Given the description of an element on the screen output the (x, y) to click on. 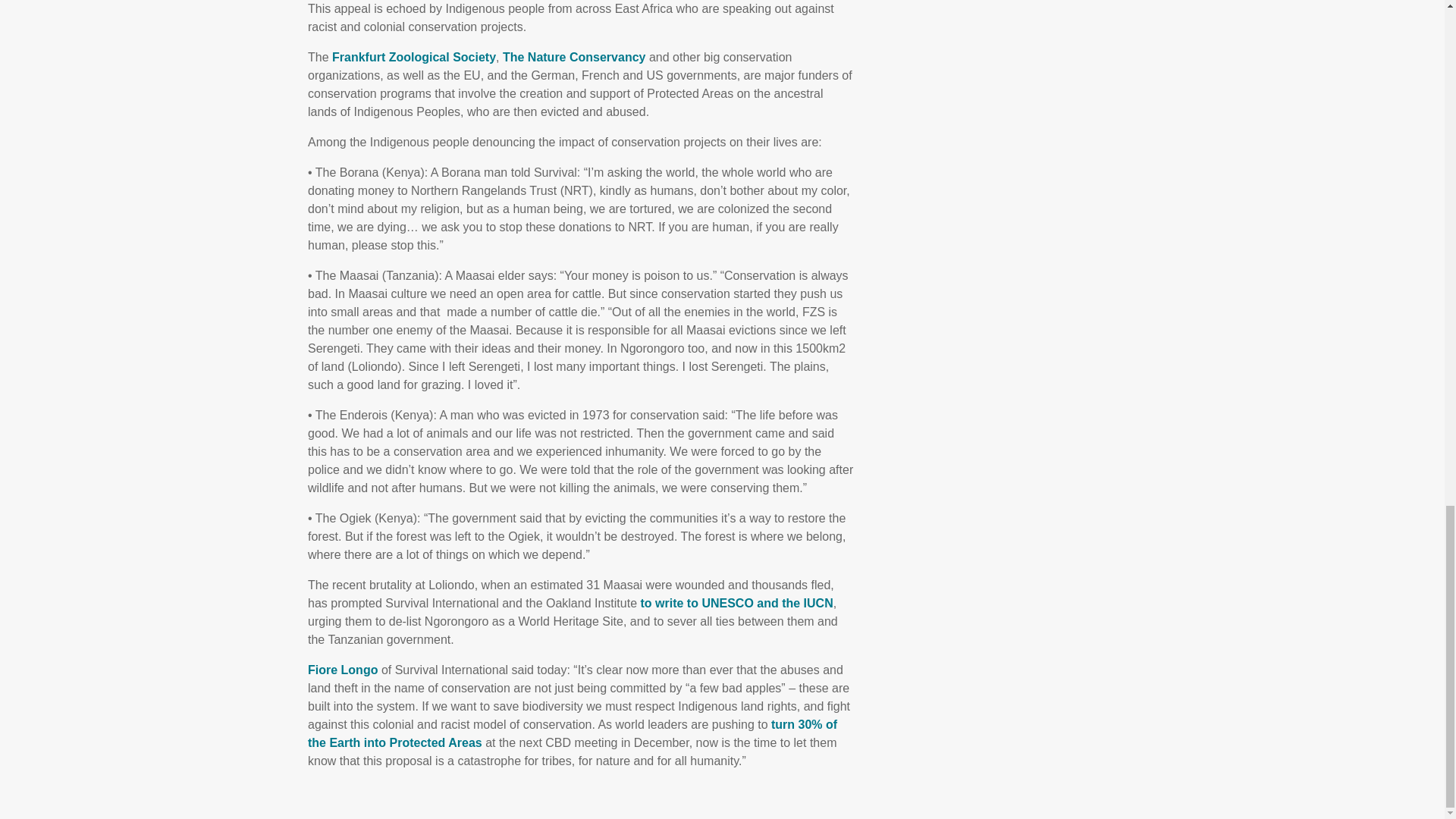
FZS (413, 56)
